Given the description of an element on the screen output the (x, y) to click on. 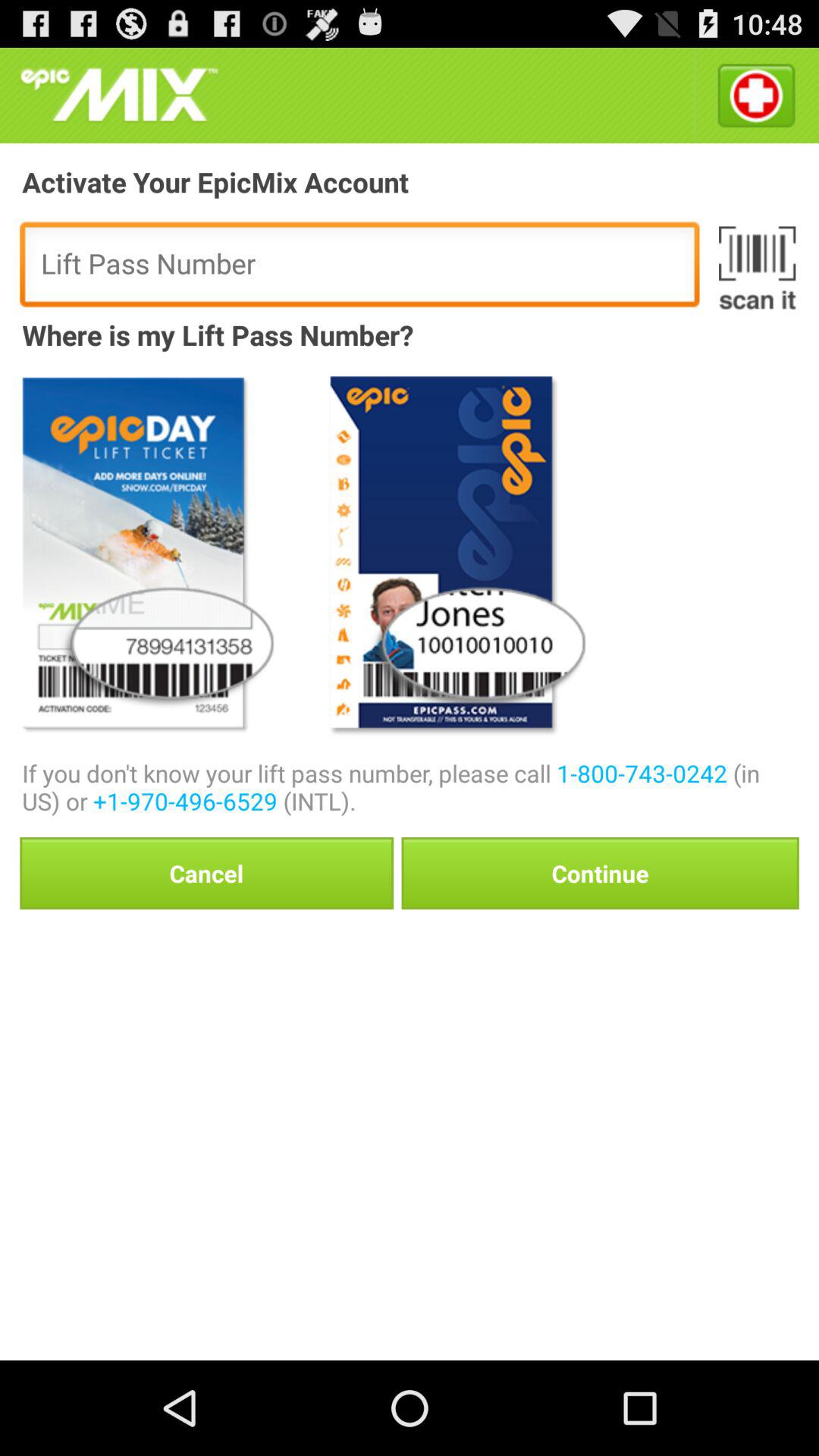
select the icon next to the continue item (206, 873)
